Given the description of an element on the screen output the (x, y) to click on. 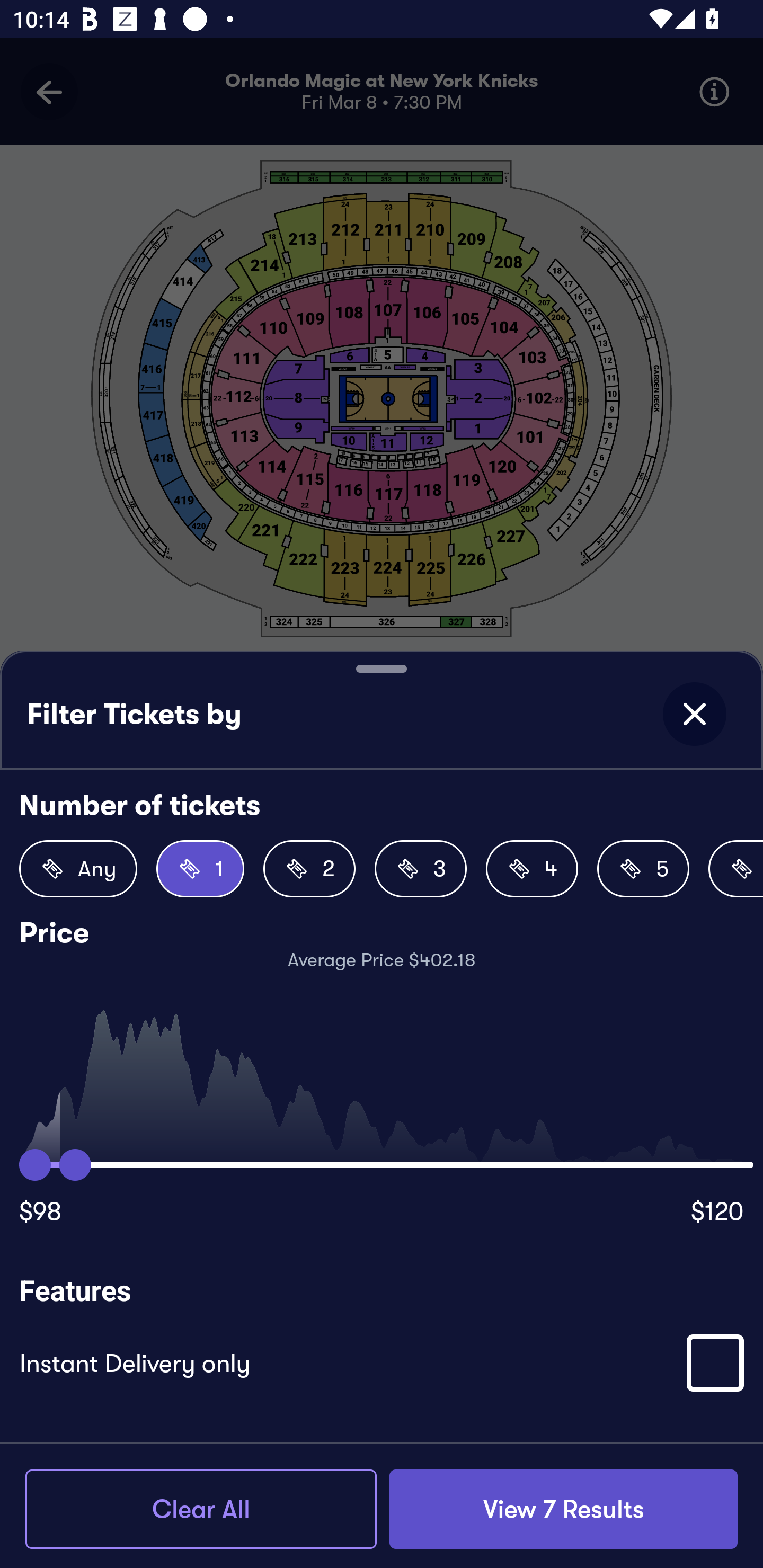
close (694, 714)
Any (78, 868)
1 (200, 868)
2 (309, 868)
3 (420, 868)
4 (532, 868)
5 (642, 868)
Clear All (200, 1509)
View 7 Results (563, 1509)
